Given the description of an element on the screen output the (x, y) to click on. 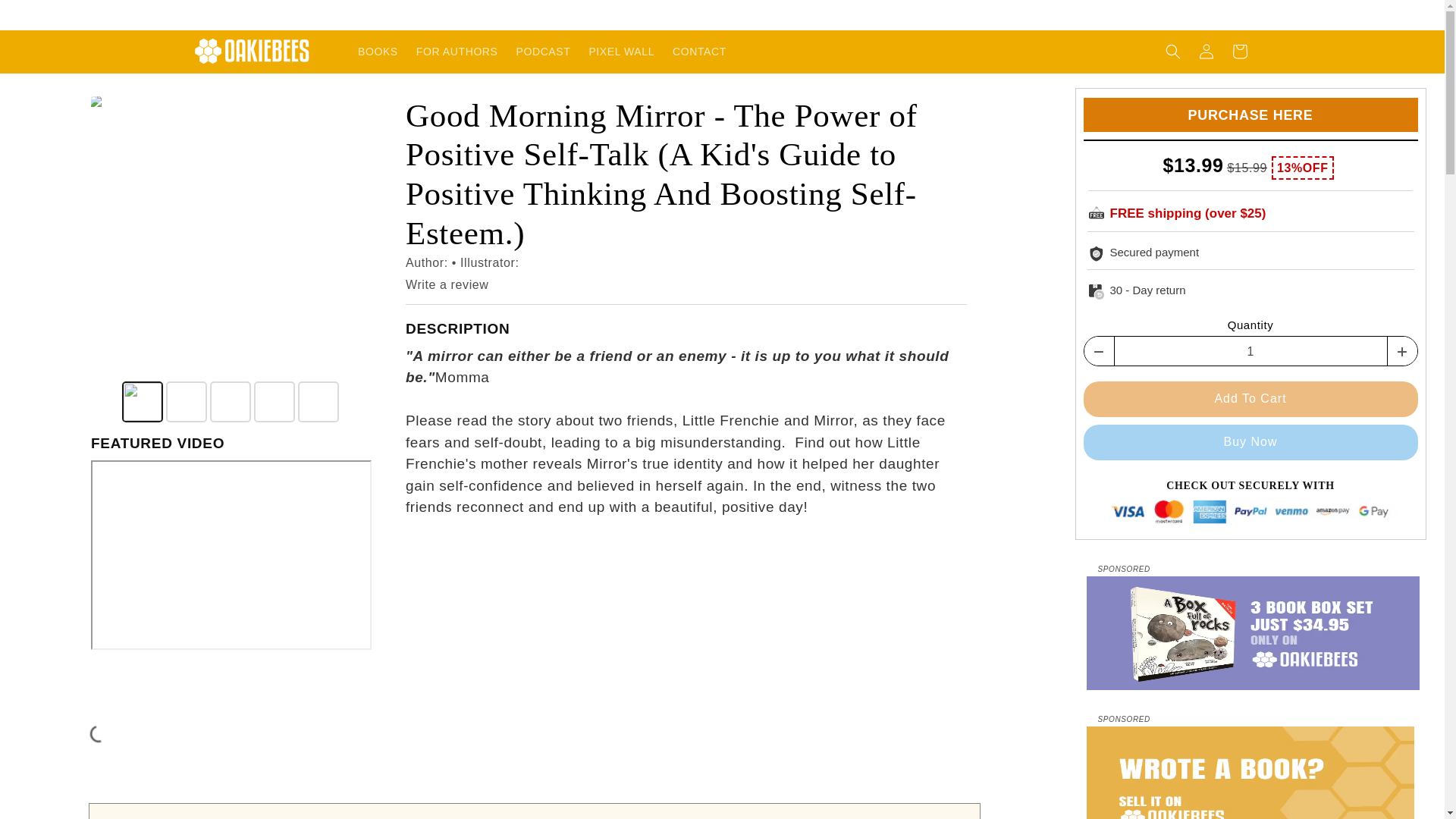
Log in (1206, 51)
Skip to content (45, 17)
1 (1251, 351)
PODCAST (542, 51)
CONTACT (699, 51)
PIXEL WALL (621, 51)
FOR AUTHORS (456, 51)
BOOKS (378, 51)
Cart (1239, 51)
